Given the description of an element on the screen output the (x, y) to click on. 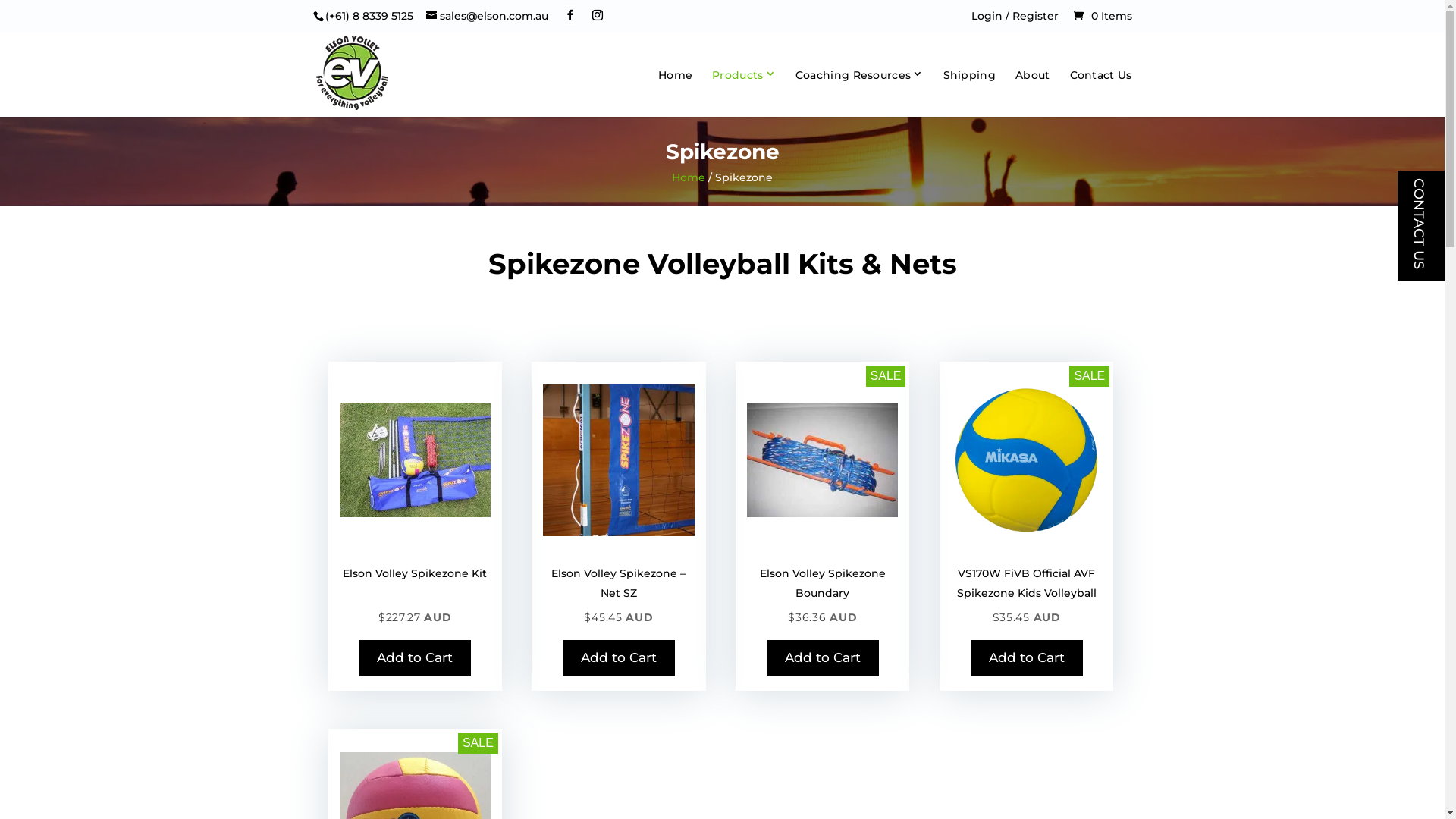
Spikezone Element type: hover (414, 459)
Add to Cart Element type: text (618, 657)
SALE
Elson Volley Spikezone Boundary
$36.36 AUD Element type: text (821, 604)
(+61) 8 8339 5125 Element type: text (368, 15)
Register Element type: text (1034, 15)
Add to Cart Element type: text (414, 657)
Add to Cart Element type: text (1026, 657)
Products Element type: text (743, 90)
Spikezone Element type: hover (617, 459)
Home Element type: text (675, 92)
Shipping Element type: text (969, 92)
sales@elson.com.au Element type: text (487, 15)
Elson Volley Spikezone Kit
$227.27 AUD Element type: text (414, 604)
0 Items Element type: text (1101, 15)
Spikezone Element type: hover (821, 459)
About Element type: text (1032, 92)
Login / Element type: text (990, 15)
Coaching Resources Element type: text (859, 90)
Add to Cart Element type: text (822, 657)
Spikezone Element type: hover (1025, 459)
Contact Us Element type: text (1100, 92)
Home Element type: text (688, 177)
